Given the description of an element on the screen output the (x, y) to click on. 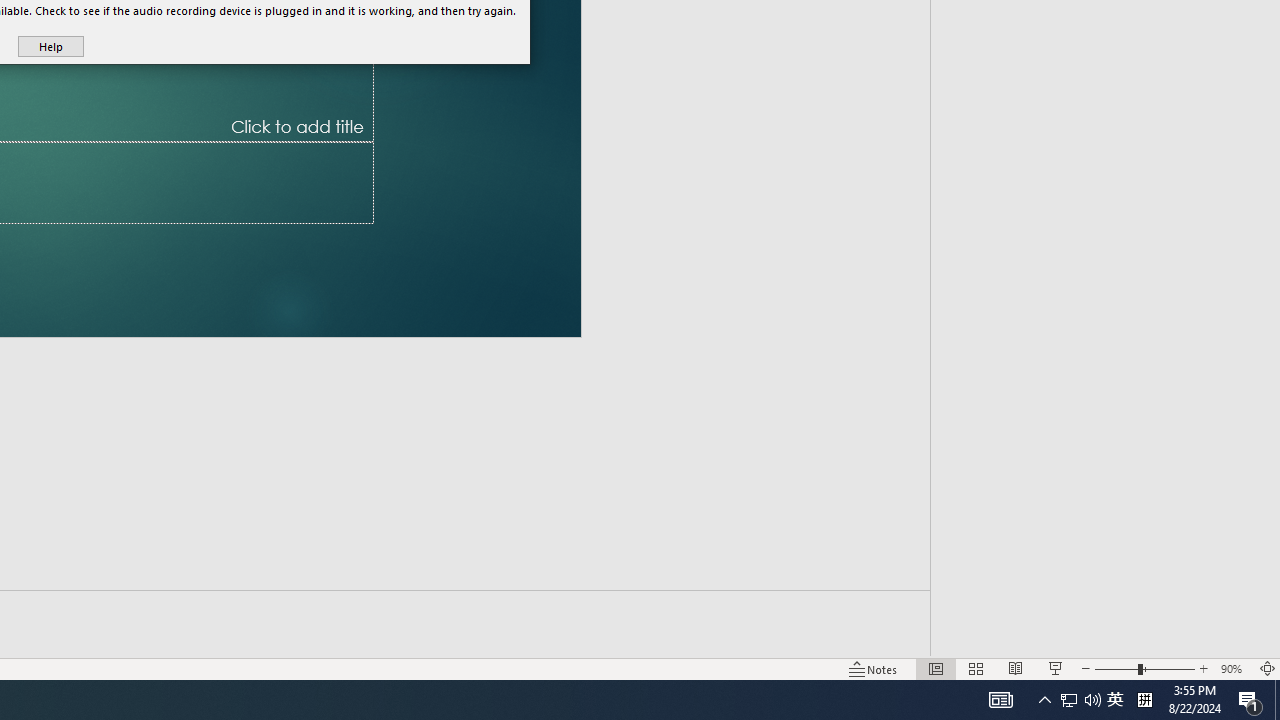
Zoom 90% (1234, 668)
